Given the description of an element on the screen output the (x, y) to click on. 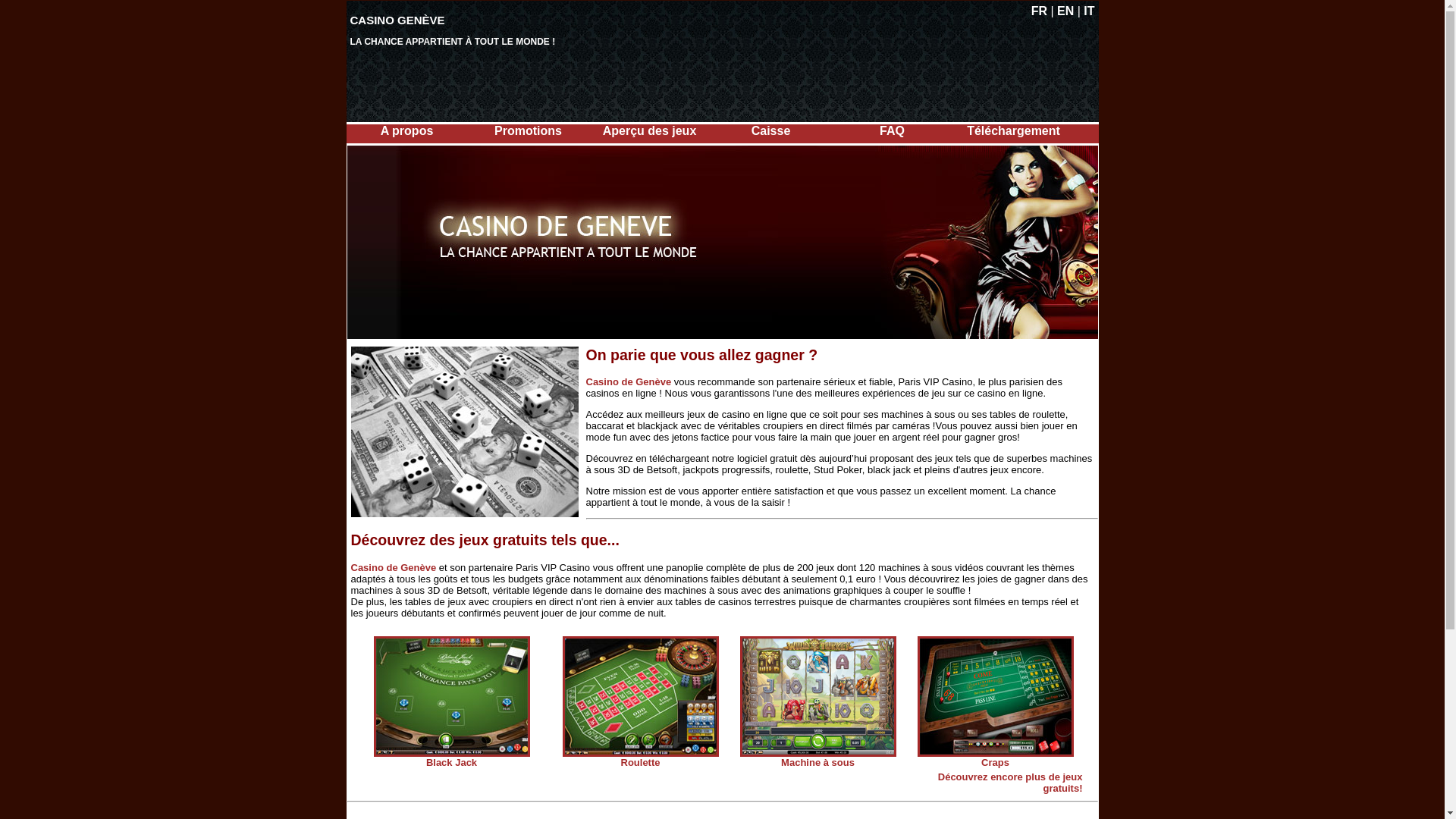
A propos Element type: text (406, 130)
Promotions Element type: text (527, 130)
FAQ Element type: text (891, 130)
EN Element type: text (1065, 10)
Caisse Element type: text (770, 130)
Black Jack Element type: text (451, 762)
IT Element type: text (1088, 10)
Craps Element type: text (995, 762)
Roulette Element type: text (639, 762)
FR Element type: text (1039, 10)
